Given the description of an element on the screen output the (x, y) to click on. 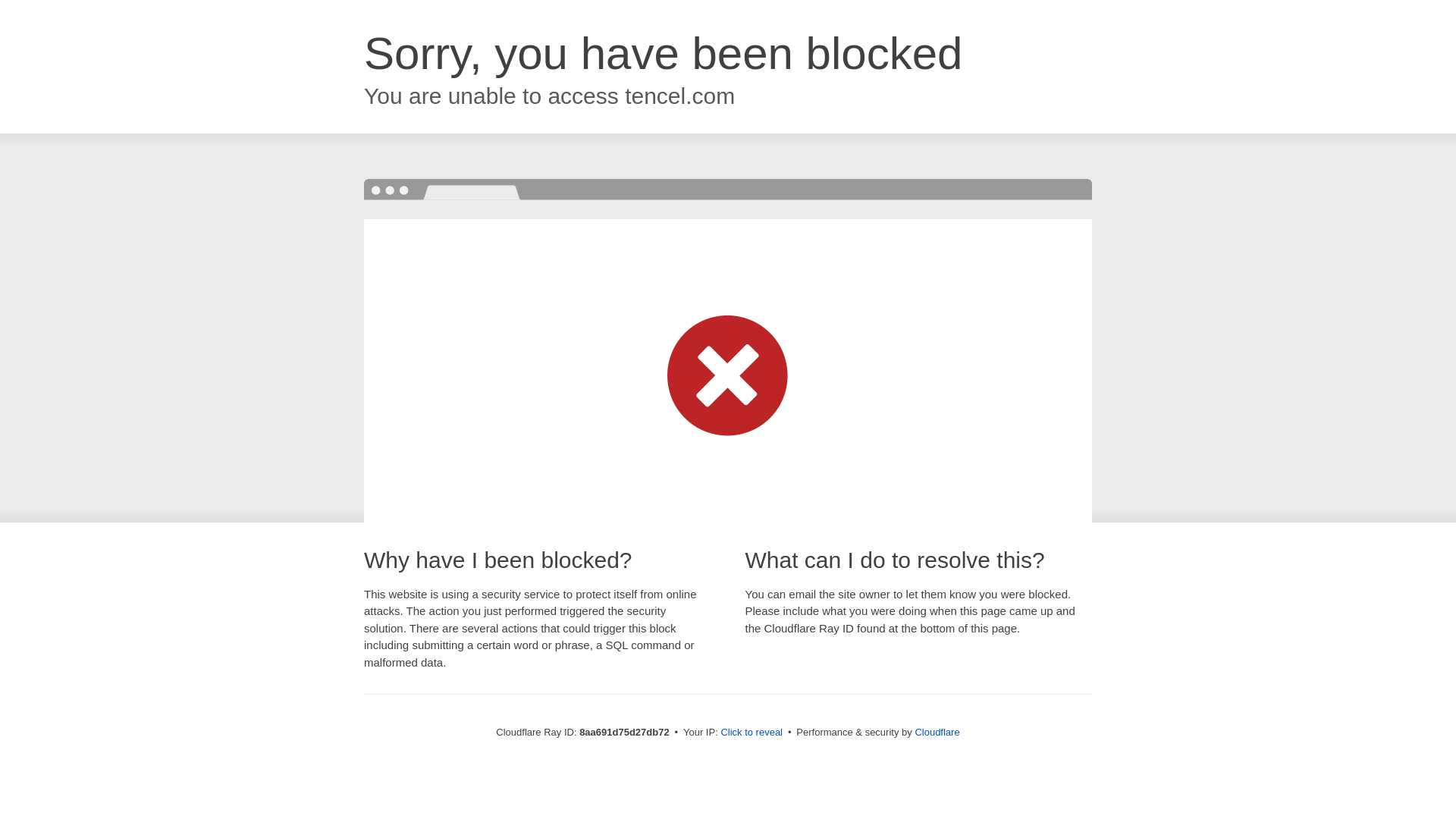
Cloudflare (936, 731)
Click to reveal (751, 732)
